Given the description of an element on the screen output the (x, y) to click on. 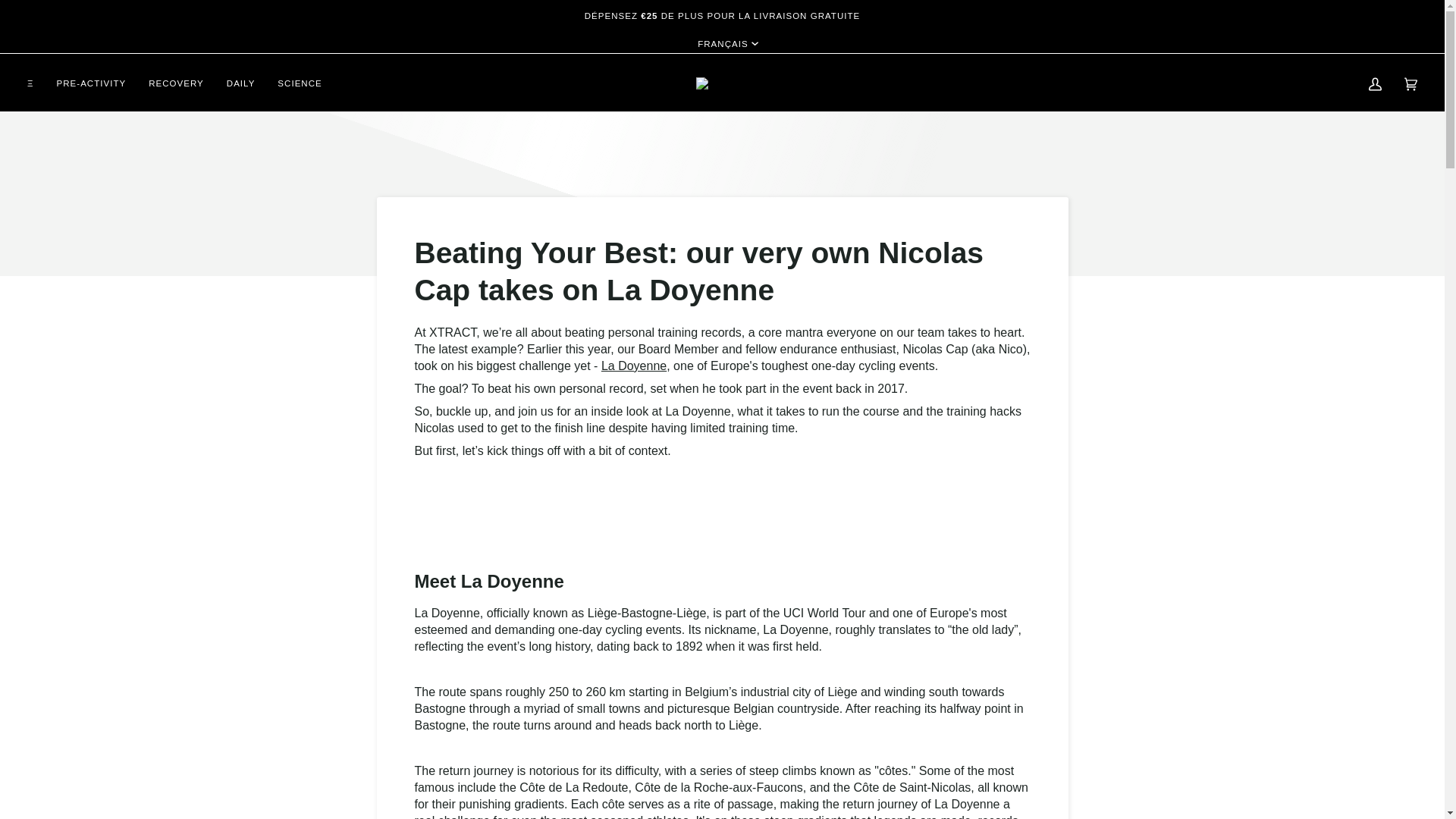
RECOVERY (175, 83)
PRE-ACTIVITY (91, 83)
Mon compte (1374, 83)
SCIENCE (299, 83)
DAILY (240, 83)
